Given the description of an element on the screen output the (x, y) to click on. 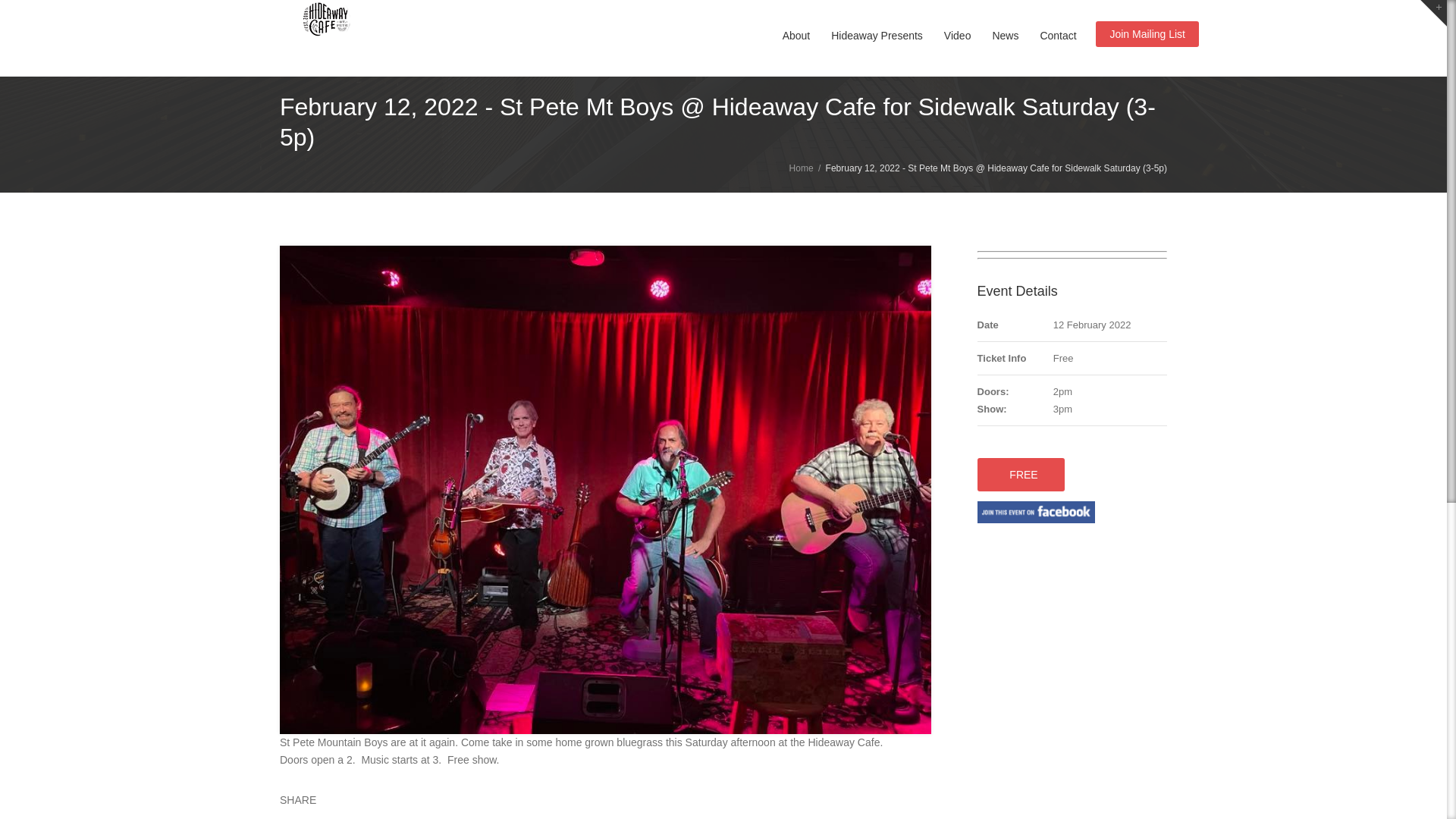
  FREE (1020, 474)
Hideaway Presents (877, 35)
Join Mailing List (1147, 33)
Contact (1057, 35)
About (796, 35)
Home (306, 21)
Video (957, 35)
News (1005, 35)
Home (801, 167)
